Given the description of an element on the screen output the (x, y) to click on. 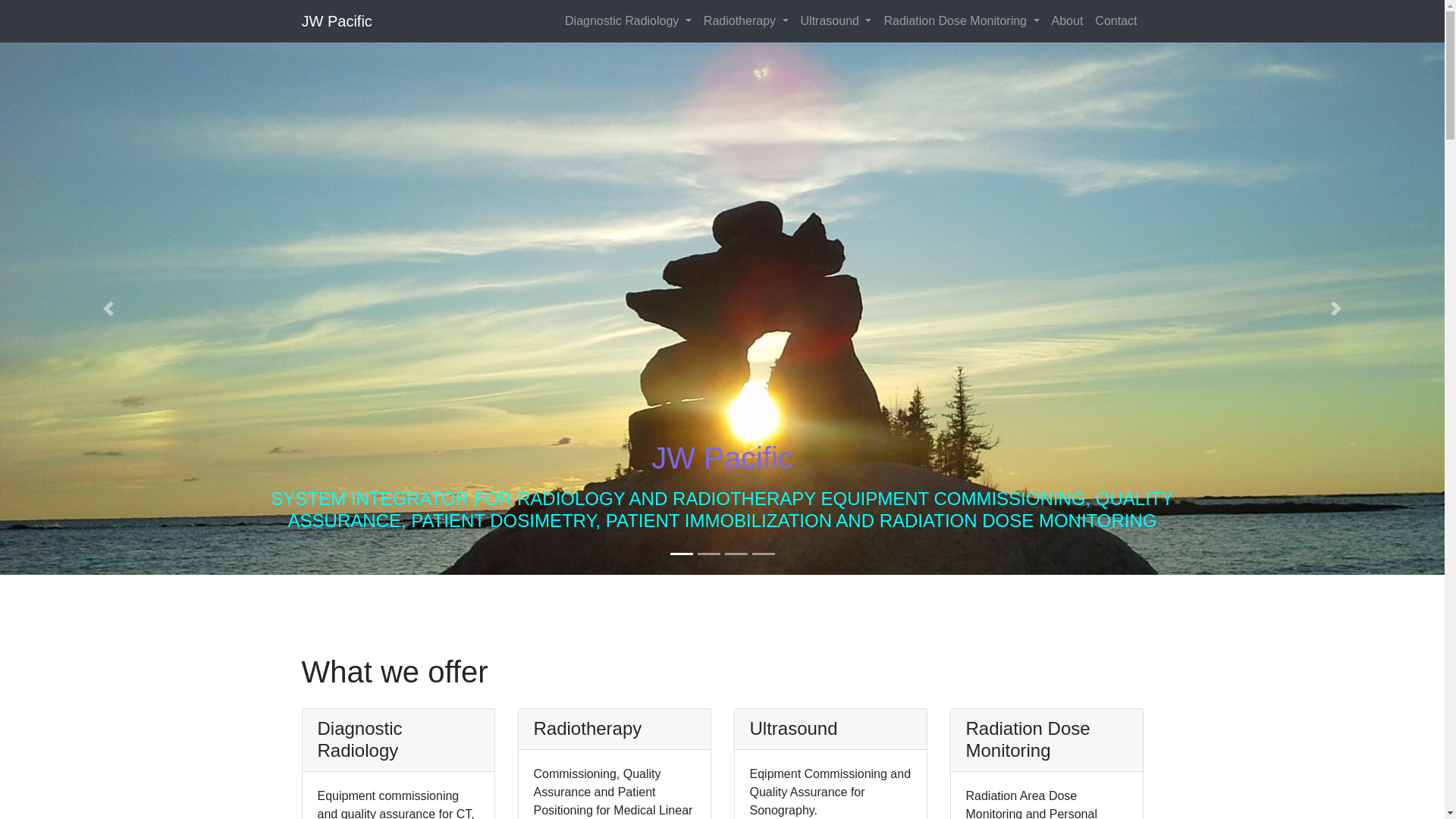
Contact (1115, 20)
JW Pacific (336, 20)
Ultrasound (835, 20)
Radiation Dose Monitoring (961, 20)
About (1067, 20)
Diagnostic Radiology (628, 20)
Radiotherapy (745, 20)
